Given the description of an element on the screen output the (x, y) to click on. 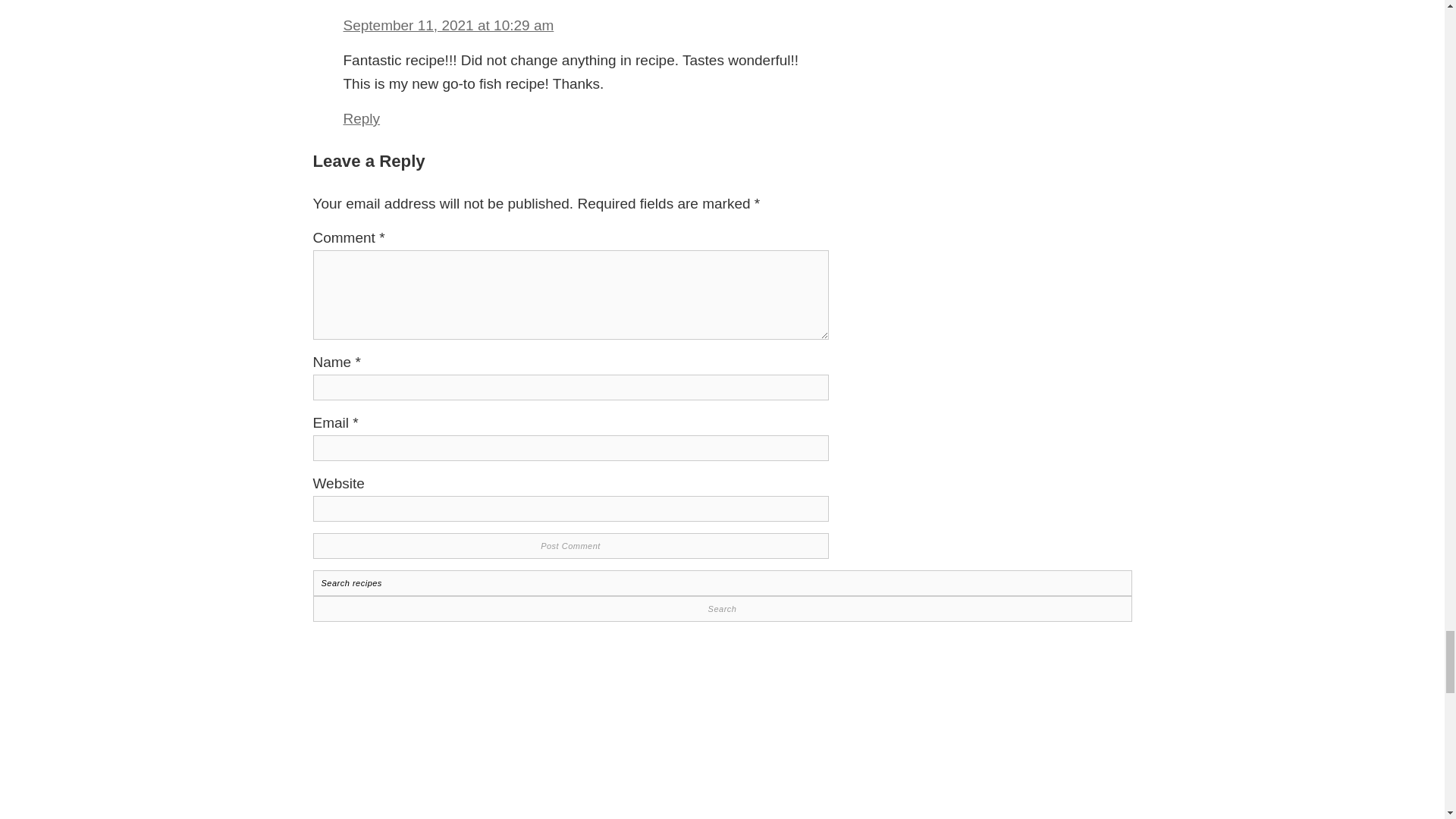
Reply (361, 118)
Search (722, 608)
September 11, 2021 at 10:29 am (447, 25)
Search (722, 608)
Post Comment (570, 545)
Post Comment (570, 545)
Search (722, 608)
